Given the description of an element on the screen output the (x, y) to click on. 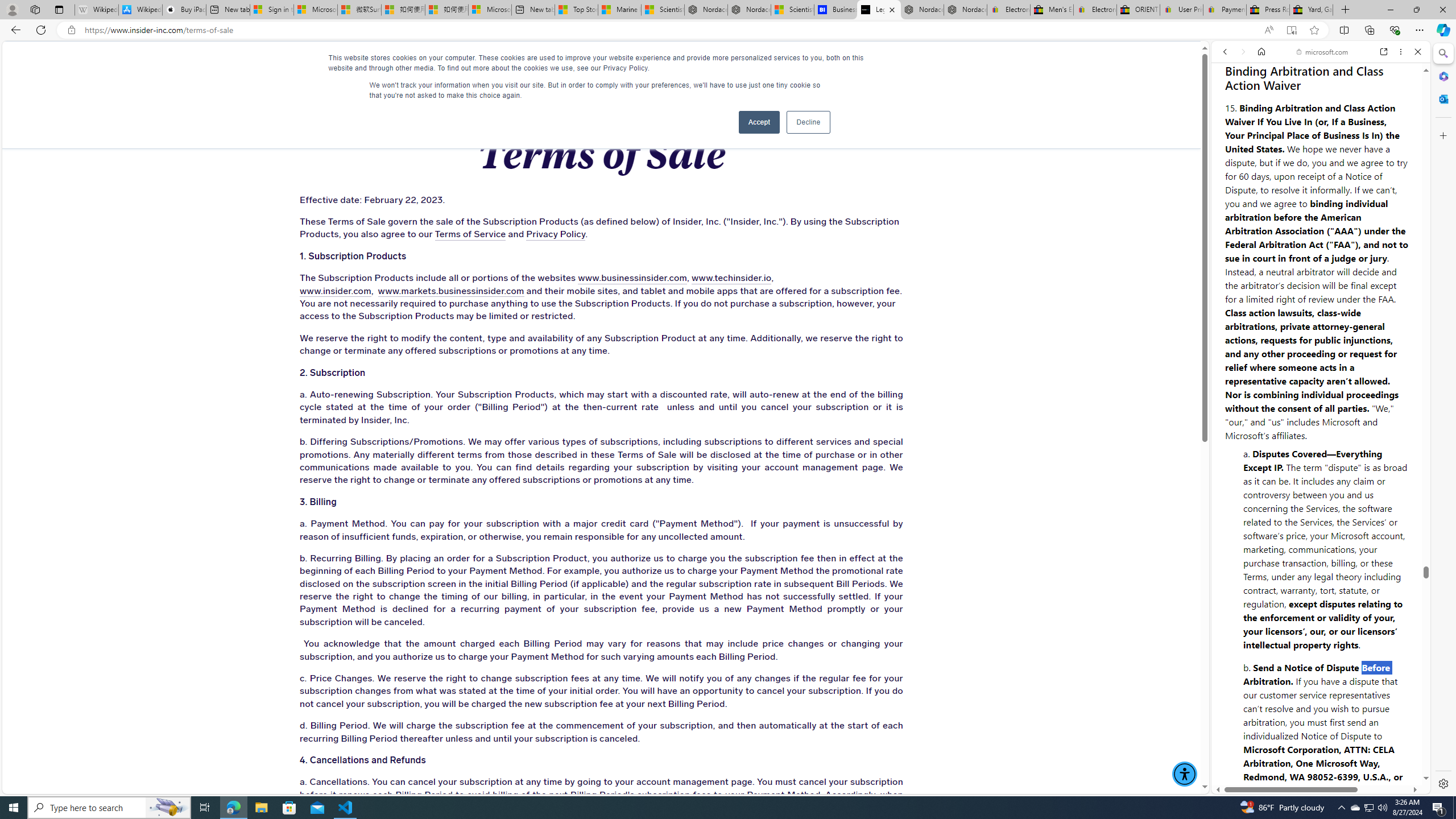
Insider Inc. (602, 63)
Insider Inc. (601, 62)
Privacy Policy (555, 234)
ADVERTISE WITH US (446, 62)
Terms of Service (469, 234)
Accessibility Menu (1184, 773)
